Given the description of an element on the screen output the (x, y) to click on. 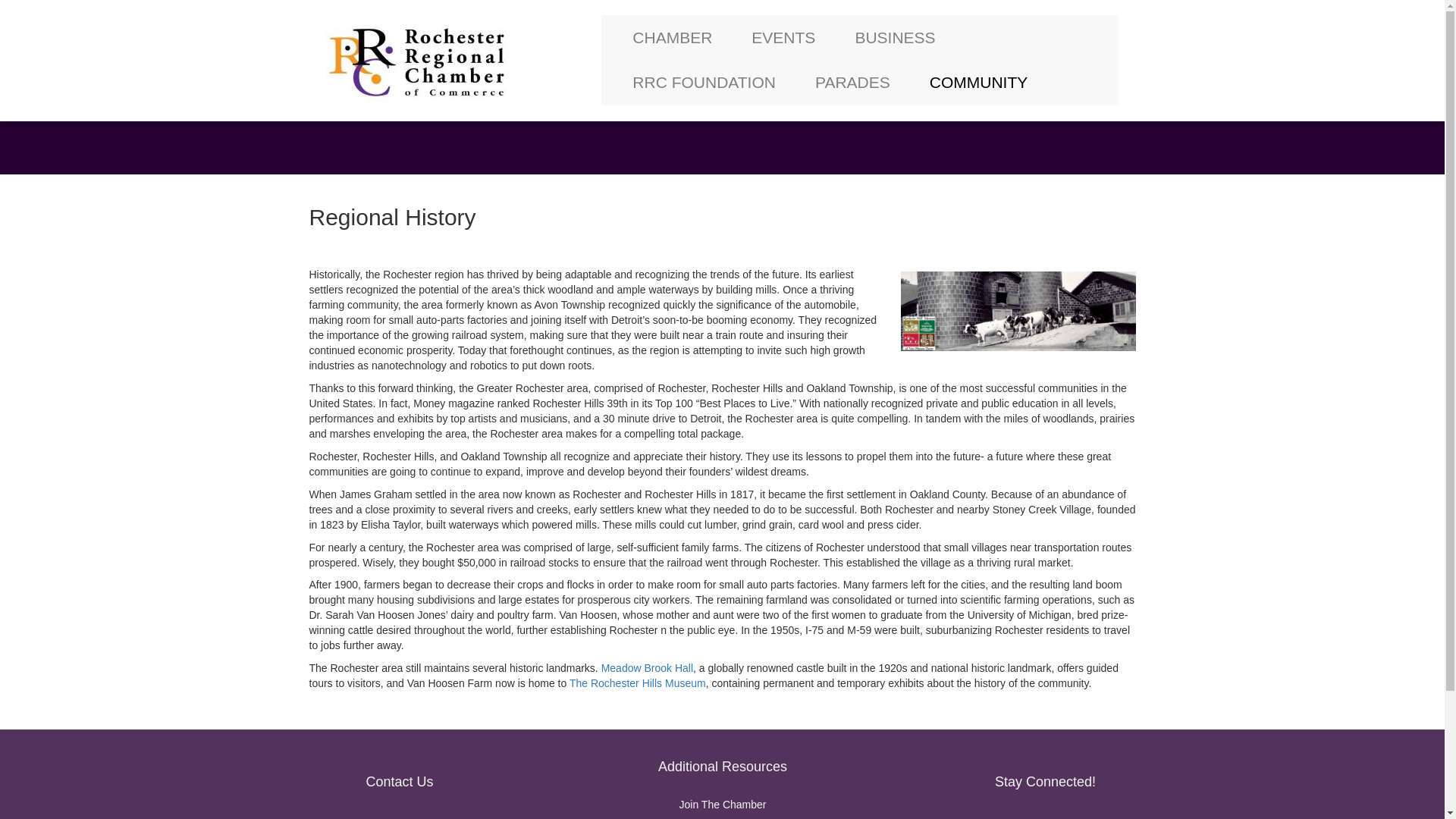
EVENTS (783, 37)
CHAMBER (672, 37)
RRC FOUNDATION (703, 81)
BUSINESS (894, 37)
